Given the description of an element on the screen output the (x, y) to click on. 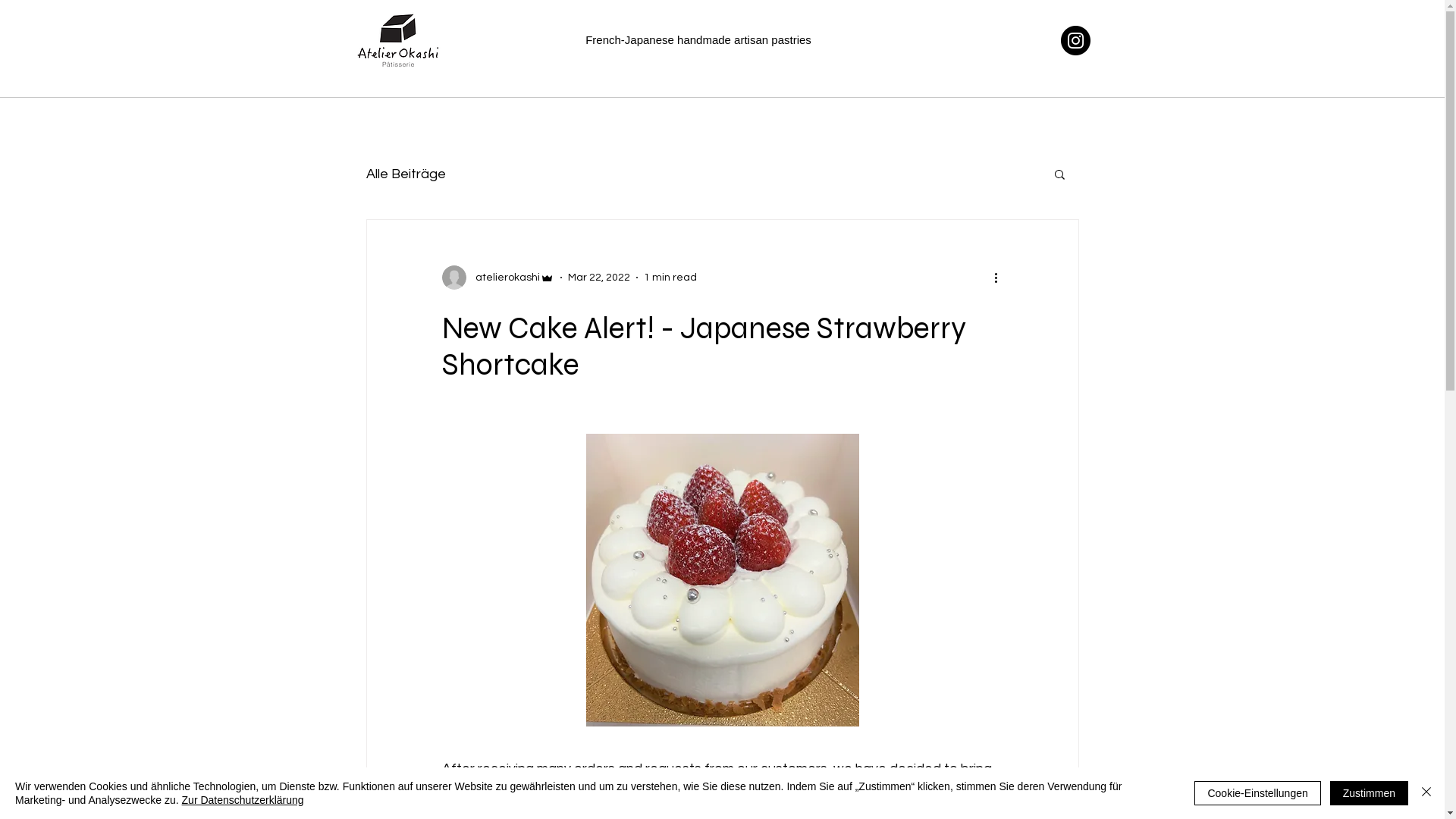
atelierokashi Element type: text (497, 277)
Zustimmen Element type: text (1369, 793)
Cookie-Einstellungen Element type: text (1257, 793)
